Given the description of an element on the screen output the (x, y) to click on. 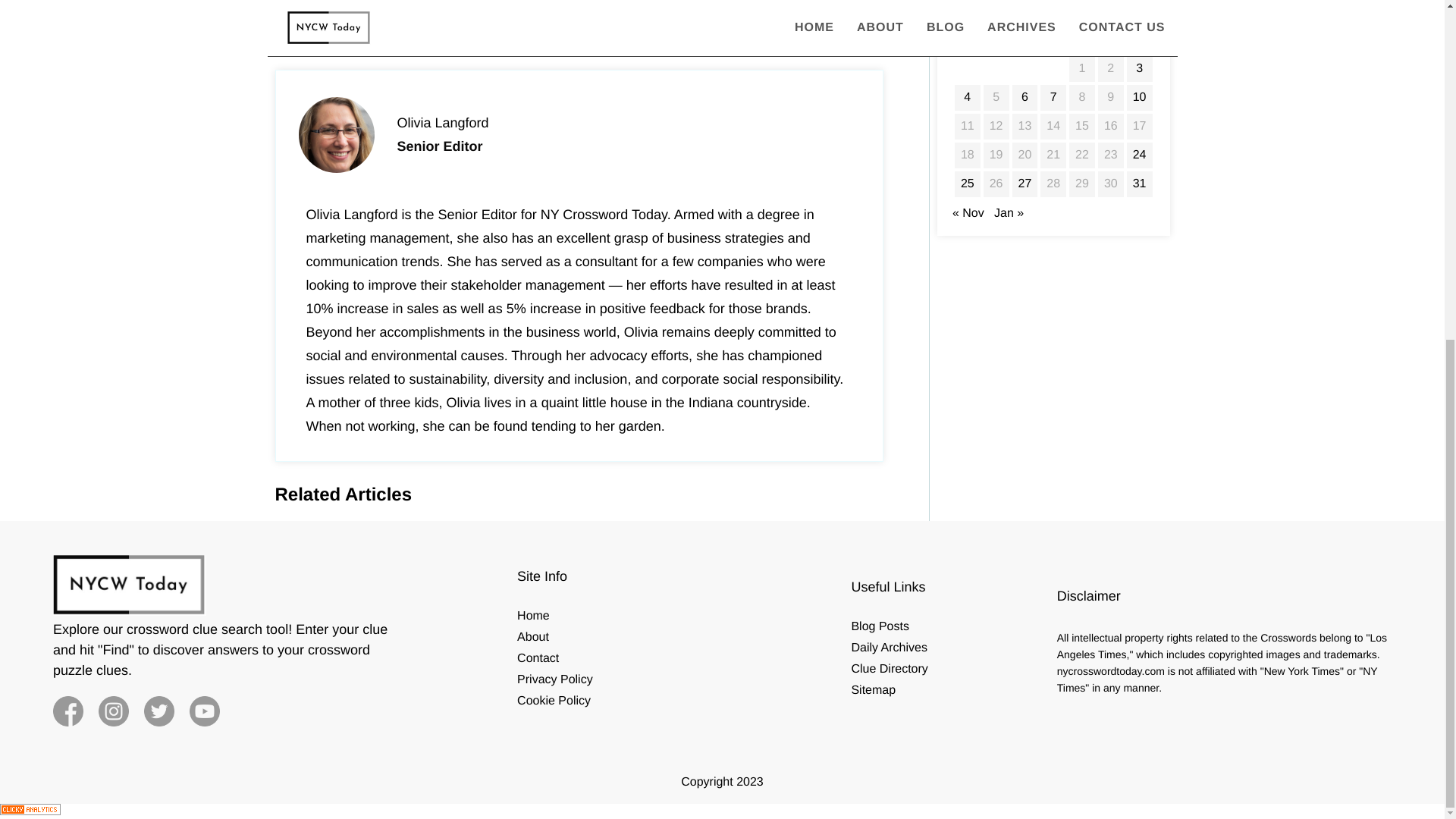
Saturday (1110, 45)
Wednesday (1025, 45)
Monday (967, 45)
Google Analytics Alternative (30, 811)
Friday (1082, 45)
Thursday (1053, 45)
Tuesday (996, 45)
Sunday (1139, 45)
